Given the description of an element on the screen output the (x, y) to click on. 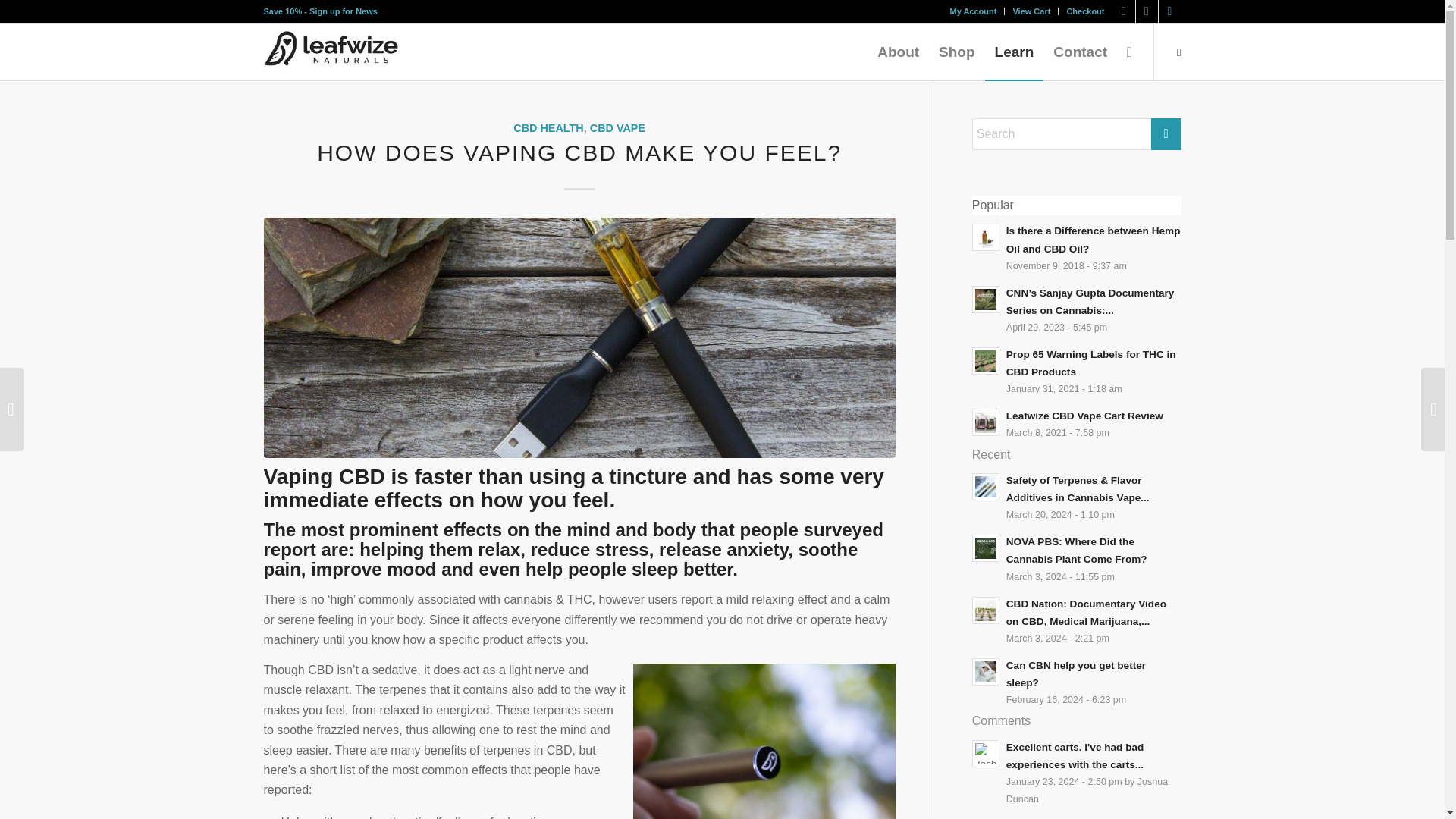
View Cart (1030, 11)
Leafwize-Logo-site (352, 51)
Facebook (1146, 11)
My Account (972, 11)
Shop (956, 51)
Checkout (1084, 11)
X (1169, 11)
Leafwize-Logo-site (343, 48)
Sign up for News (342, 10)
About (897, 51)
Instagram (1124, 11)
